Given the description of an element on the screen output the (x, y) to click on. 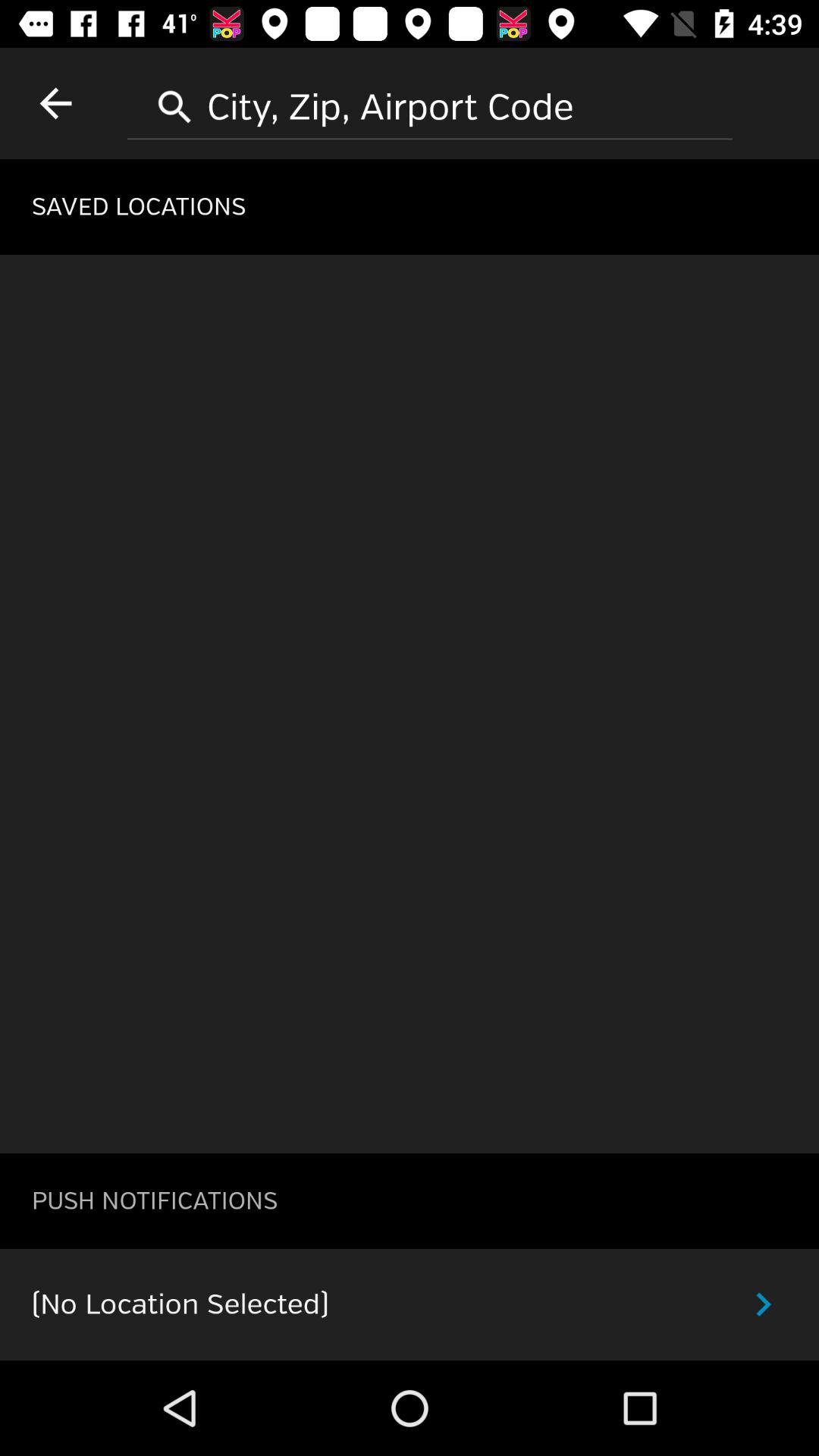
search the city (429, 102)
